Given the description of an element on the screen output the (x, y) to click on. 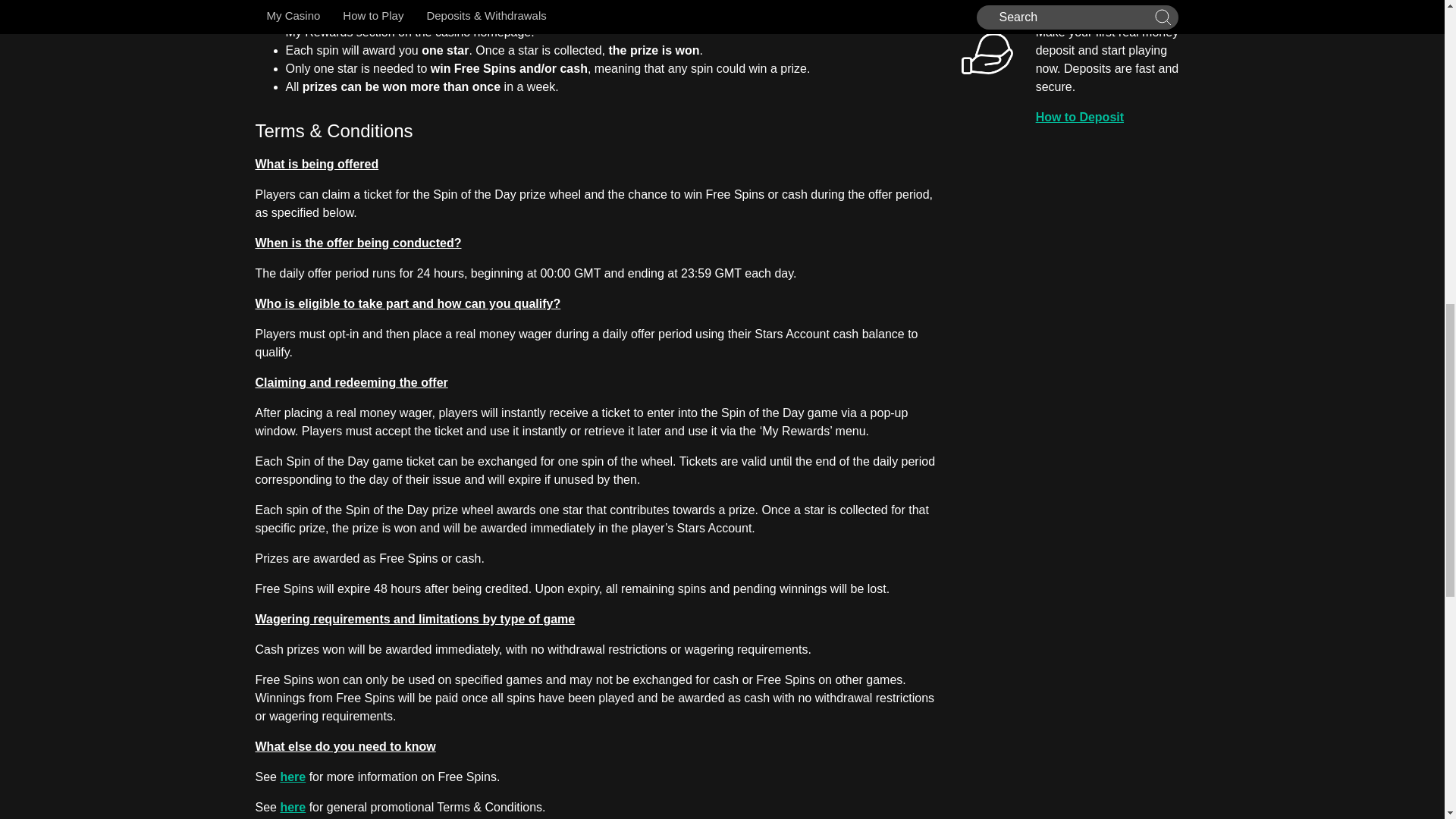
How to Deposit (1112, 117)
here (292, 776)
here (292, 807)
